Given the description of an element on the screen output the (x, y) to click on. 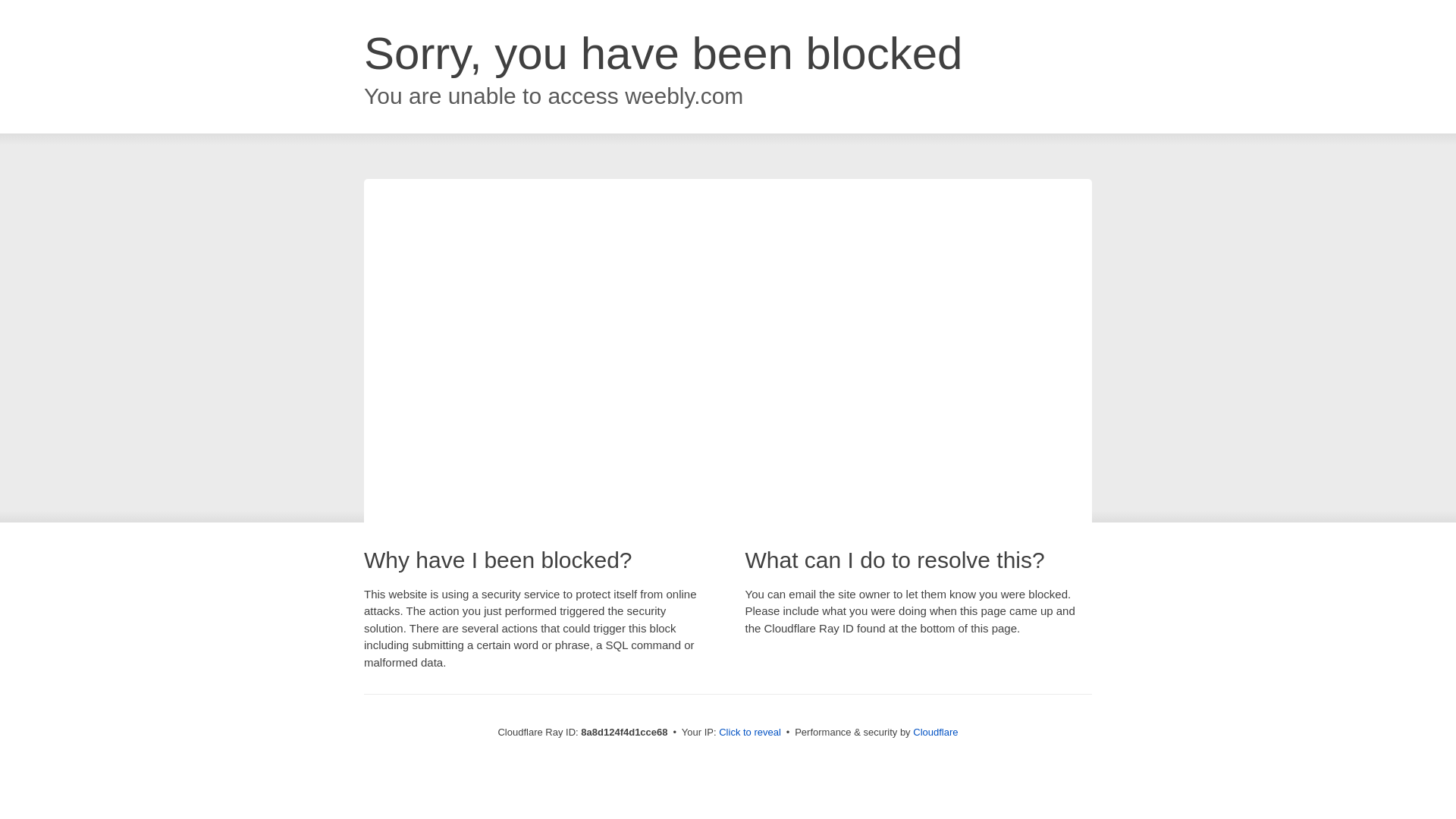
Click to reveal (749, 732)
Cloudflare (935, 731)
